Given the description of an element on the screen output the (x, y) to click on. 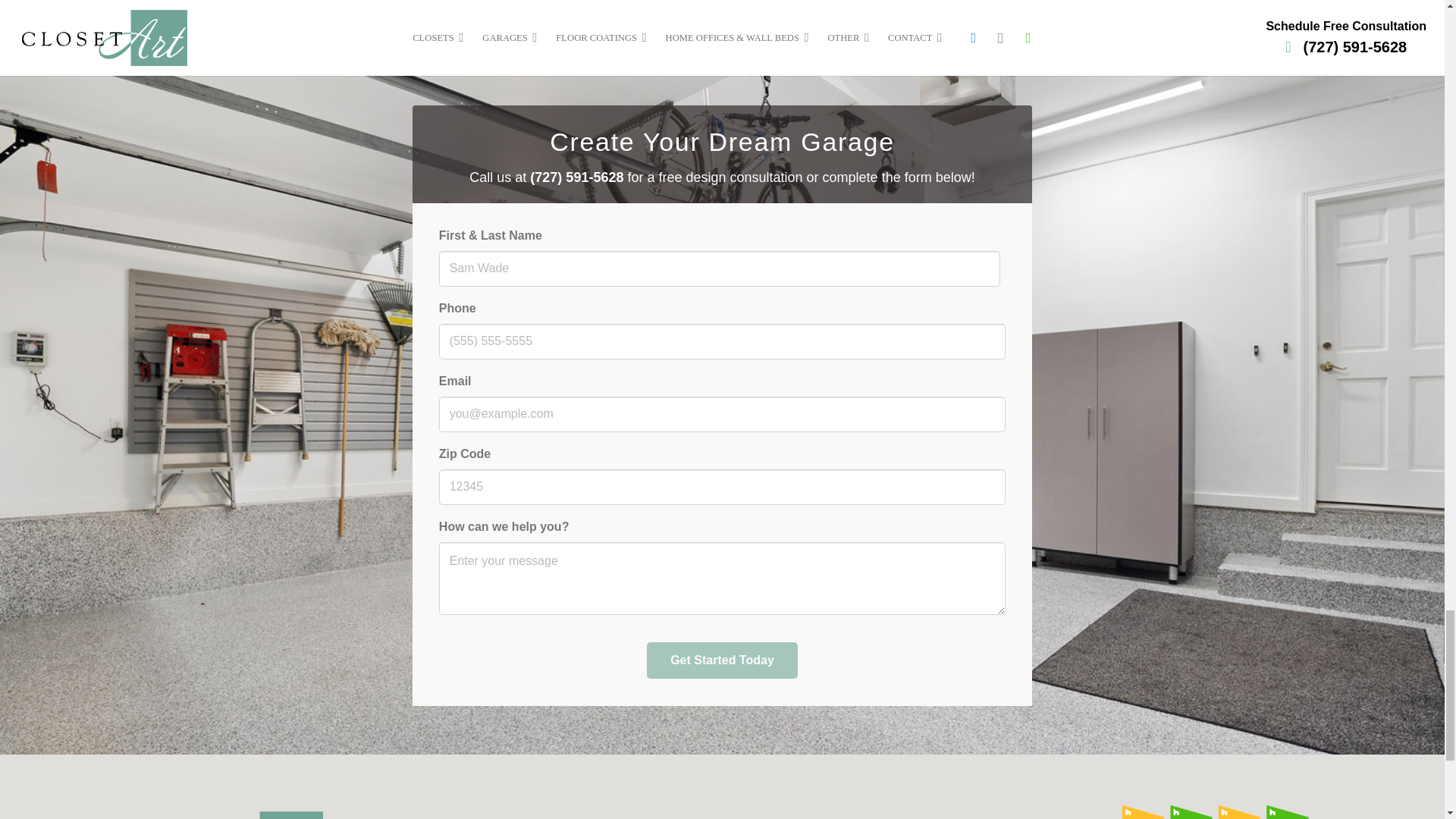
Get Started Today (721, 660)
